Given the description of an element on the screen output the (x, y) to click on. 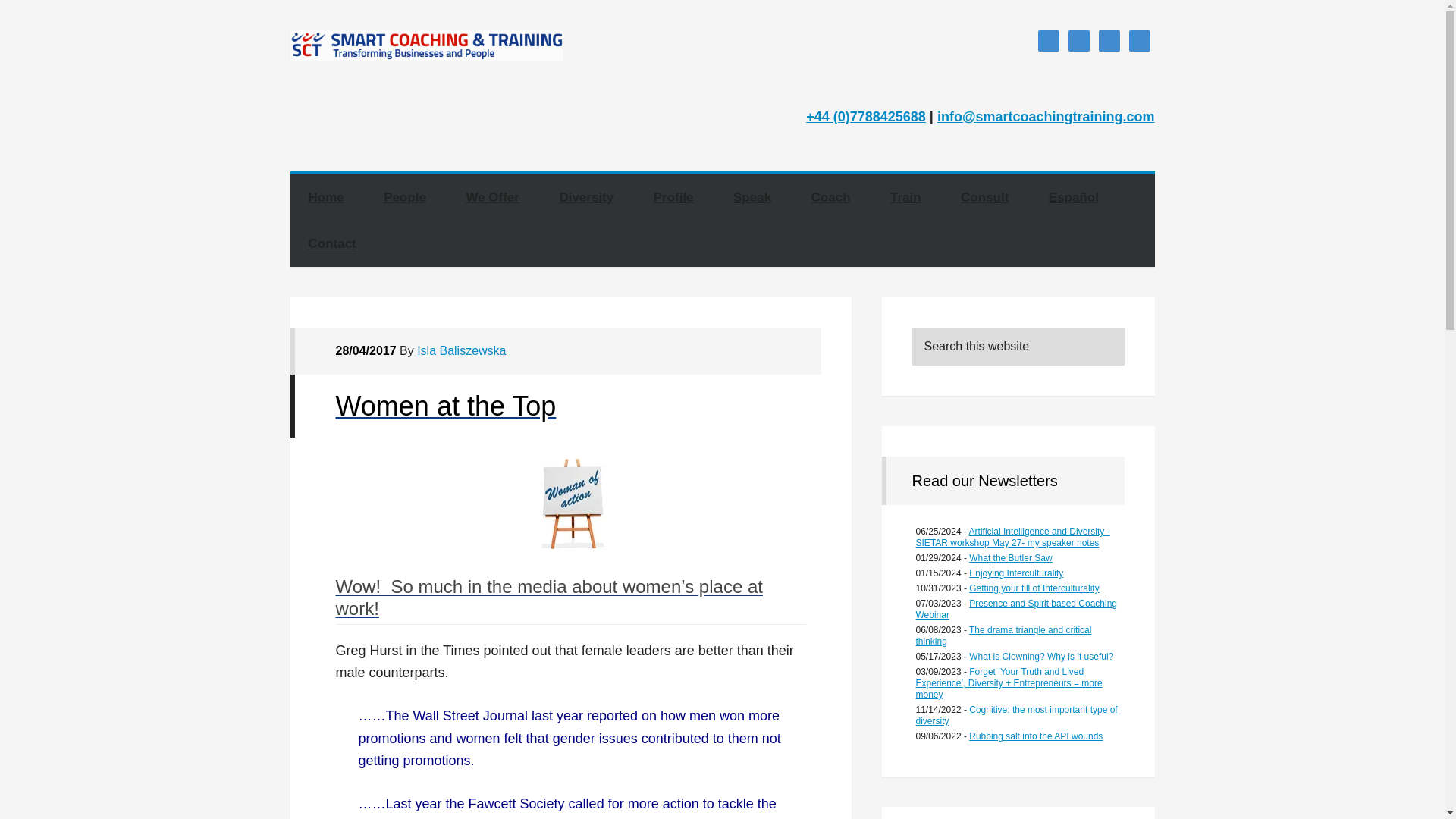
The drama triangle and critical thinking (1003, 635)
People (404, 197)
Enjoying Interculturality (1015, 573)
Profile (672, 197)
We Offer (491, 197)
Cognitive: the most important type of diversity (1016, 715)
Home (325, 197)
Presence and Spirit based  Coaching Webinar (1016, 608)
Diversity (585, 197)
Rubbing salt into the API wounds (1035, 736)
What is Clowning? Why is it useful? (1041, 656)
Speak (751, 197)
Getting your fill of Interculturality (1034, 588)
